Given the description of an element on the screen output the (x, y) to click on. 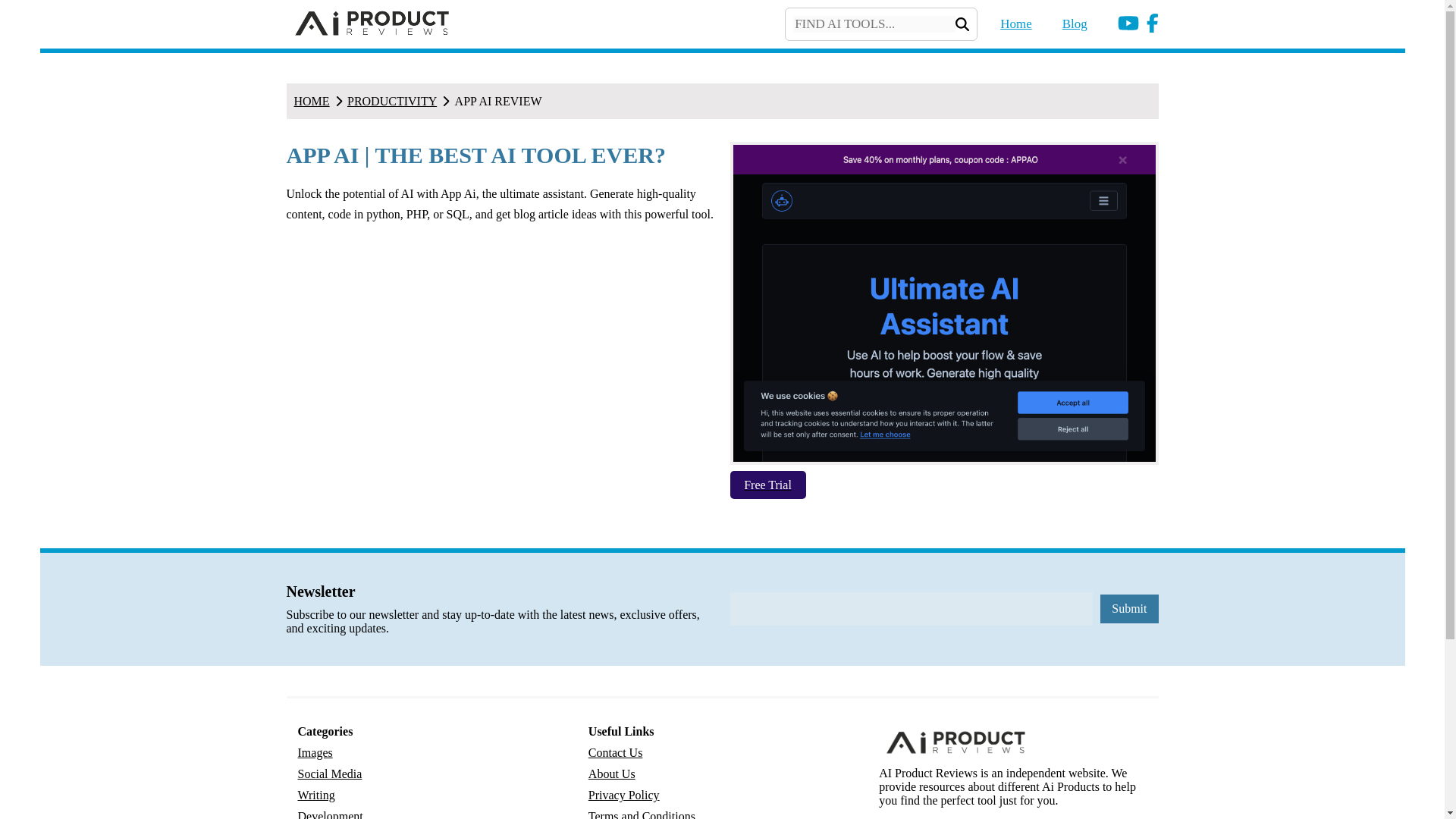
Writing (315, 794)
Images (314, 752)
Social Media (329, 773)
Privacy Policy (623, 794)
Development (329, 812)
PRODUCTIVITY (391, 100)
Contact Us (615, 752)
About Us (611, 773)
Terms and Conditions (641, 812)
Home (1004, 23)
